Given the description of an element on the screen output the (x, y) to click on. 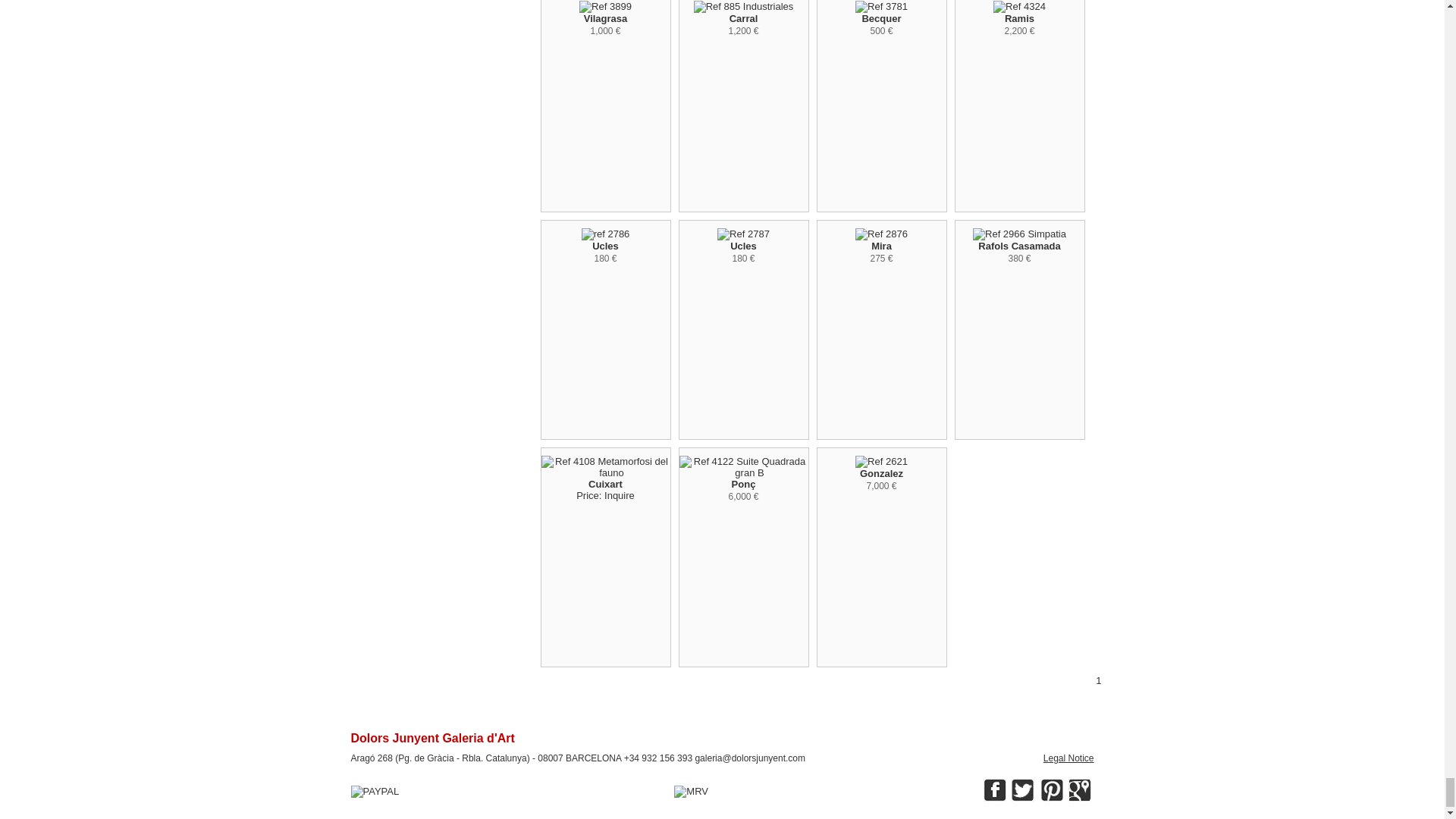
Pinterest (1051, 789)
Google Maps (1079, 789)
Twiter (1022, 789)
